Given the description of an element on the screen output the (x, y) to click on. 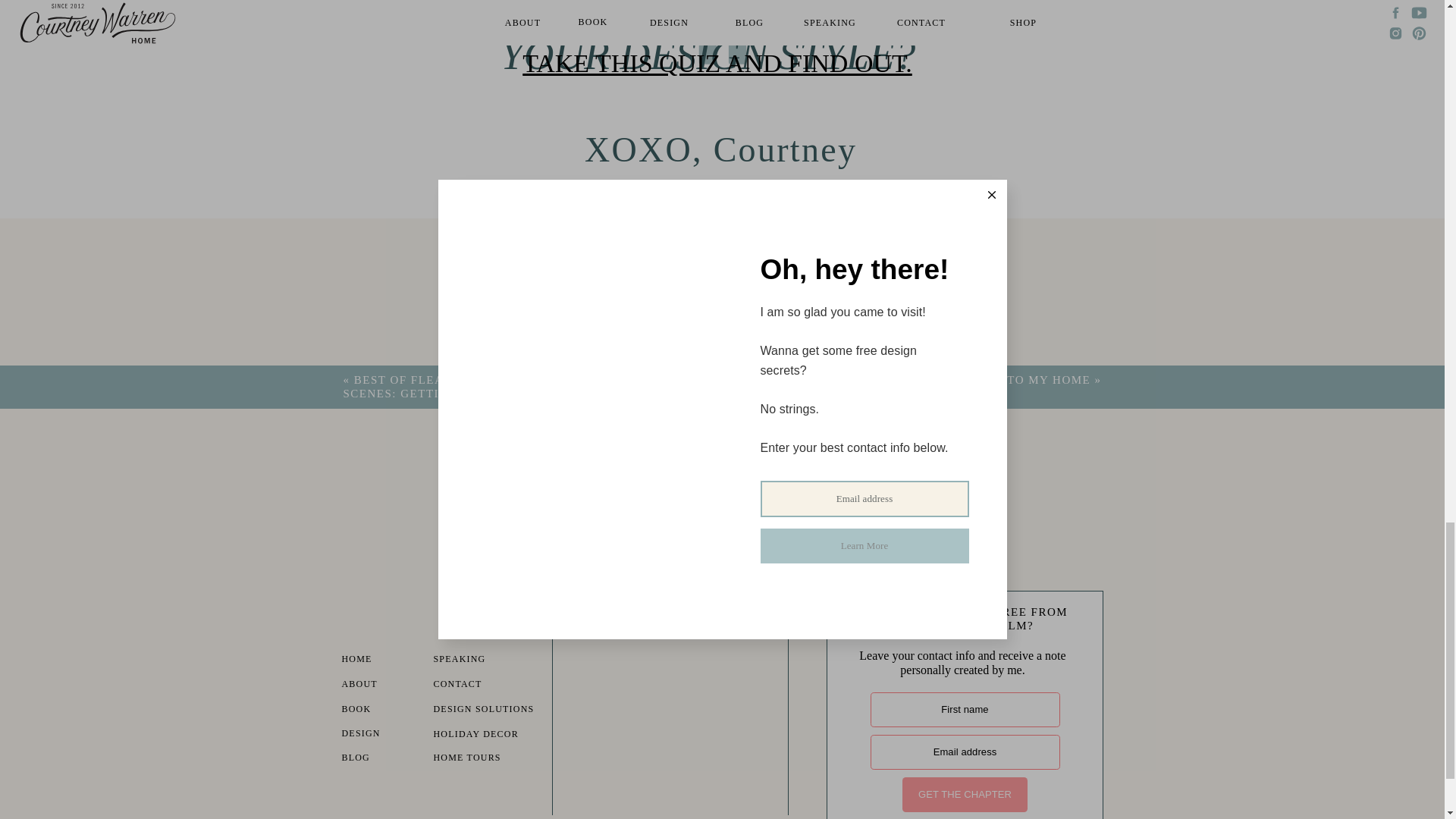
ABOUT (381, 685)
DESIGN SOLUTIONS (493, 710)
BLOG (381, 759)
WHEN THE MAGAZINE CAME TO MY HOME (955, 379)
DESIGN (381, 735)
HOME (381, 660)
HOLIDAY DECOR (485, 735)
HOME TOURS (474, 759)
SPEAKING (474, 660)
CONTACT (474, 685)
TAKE THIS QUIZ AND FIND OUT. (717, 62)
What interests you more? (644, 480)
GET THE CHAPTER (964, 794)
